Given the description of an element on the screen output the (x, y) to click on. 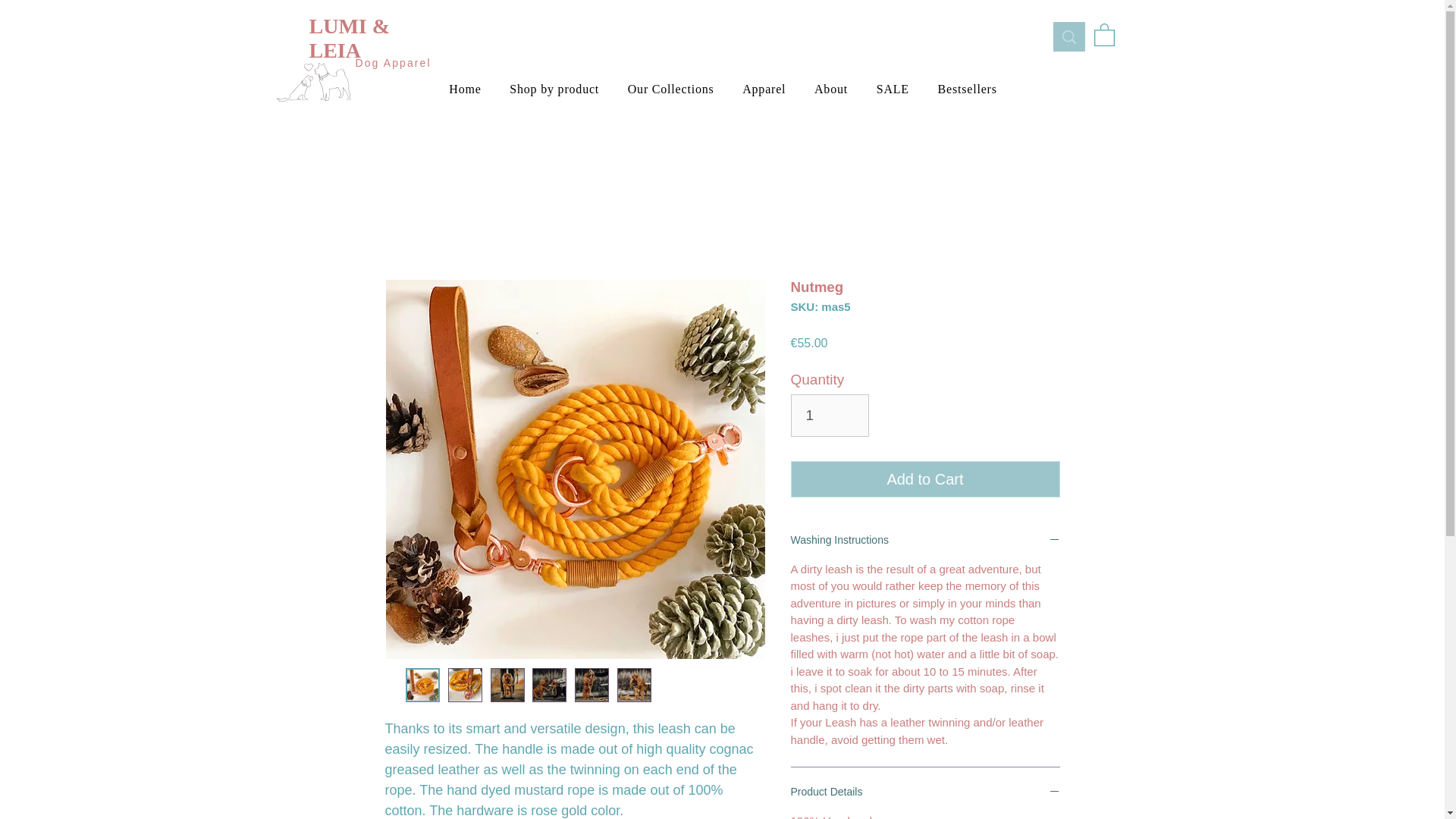
Apparel (763, 89)
Dog Apparel  (395, 62)
1 (829, 414)
Home (465, 89)
Our Collections (670, 89)
About (831, 89)
Shop by product (553, 89)
